Given the description of an element on the screen output the (x, y) to click on. 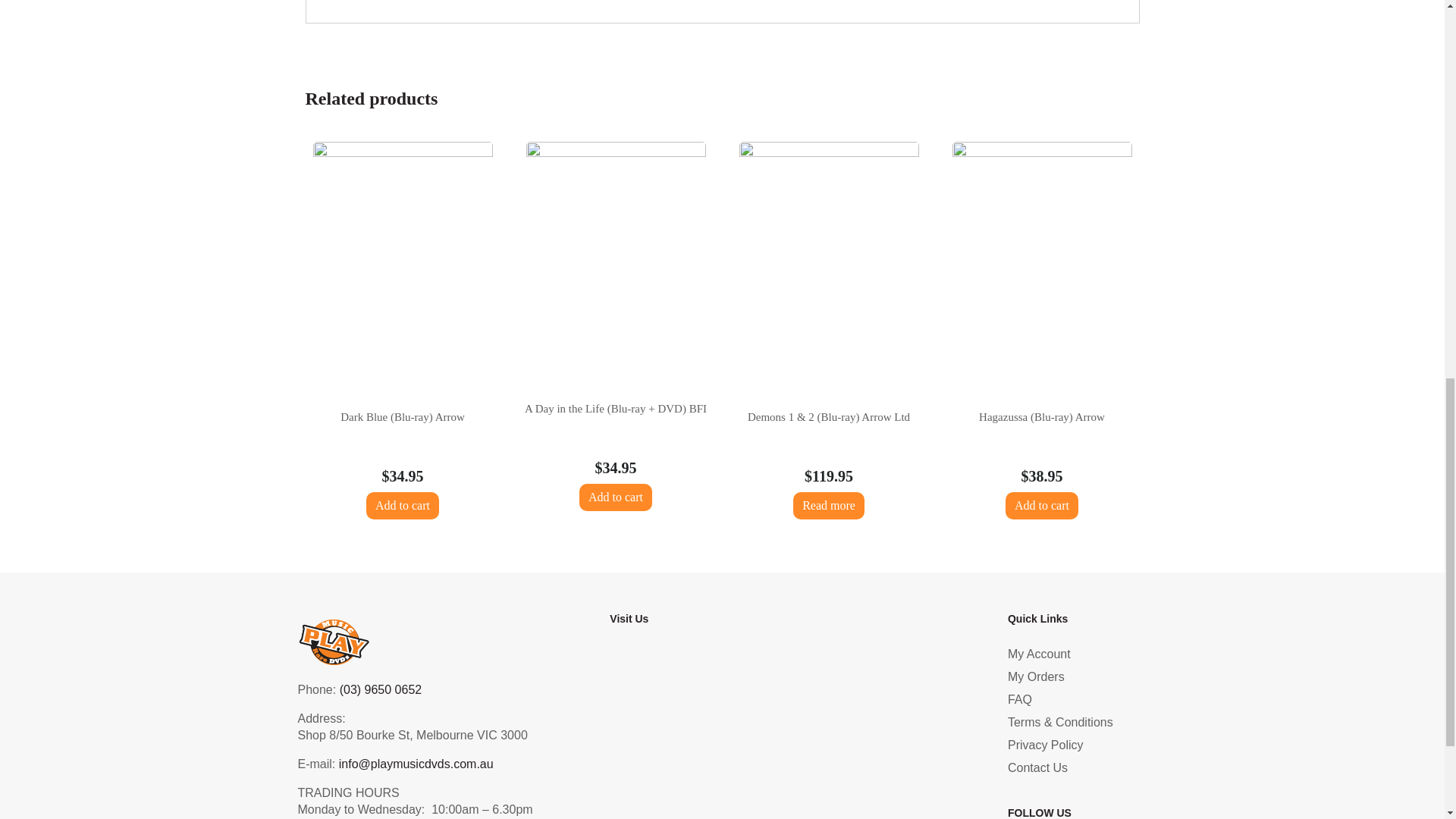
Add to cart (1042, 505)
Read more (828, 505)
Play music DVDs (789, 733)
Add to cart (402, 505)
Add to cart (615, 497)
